Given the description of an element on the screen output the (x, y) to click on. 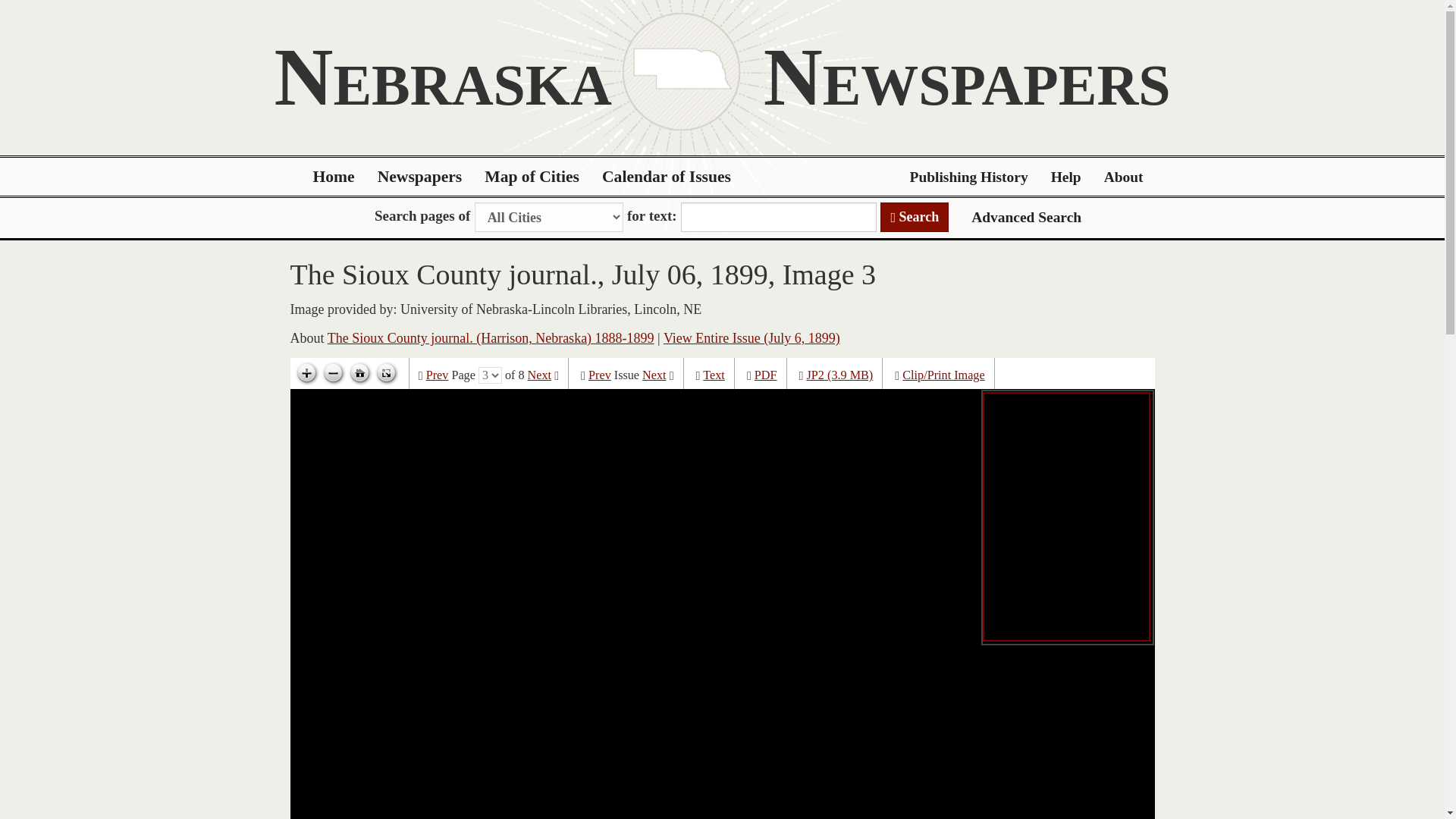
Next (653, 375)
Map of Cities (532, 176)
Zoom in (307, 373)
Next (539, 375)
Text (714, 375)
Help (1066, 176)
Publishing History (968, 176)
About (1123, 176)
Zoom out (333, 373)
Toggle full page (385, 373)
